Given the description of an element on the screen output the (x, y) to click on. 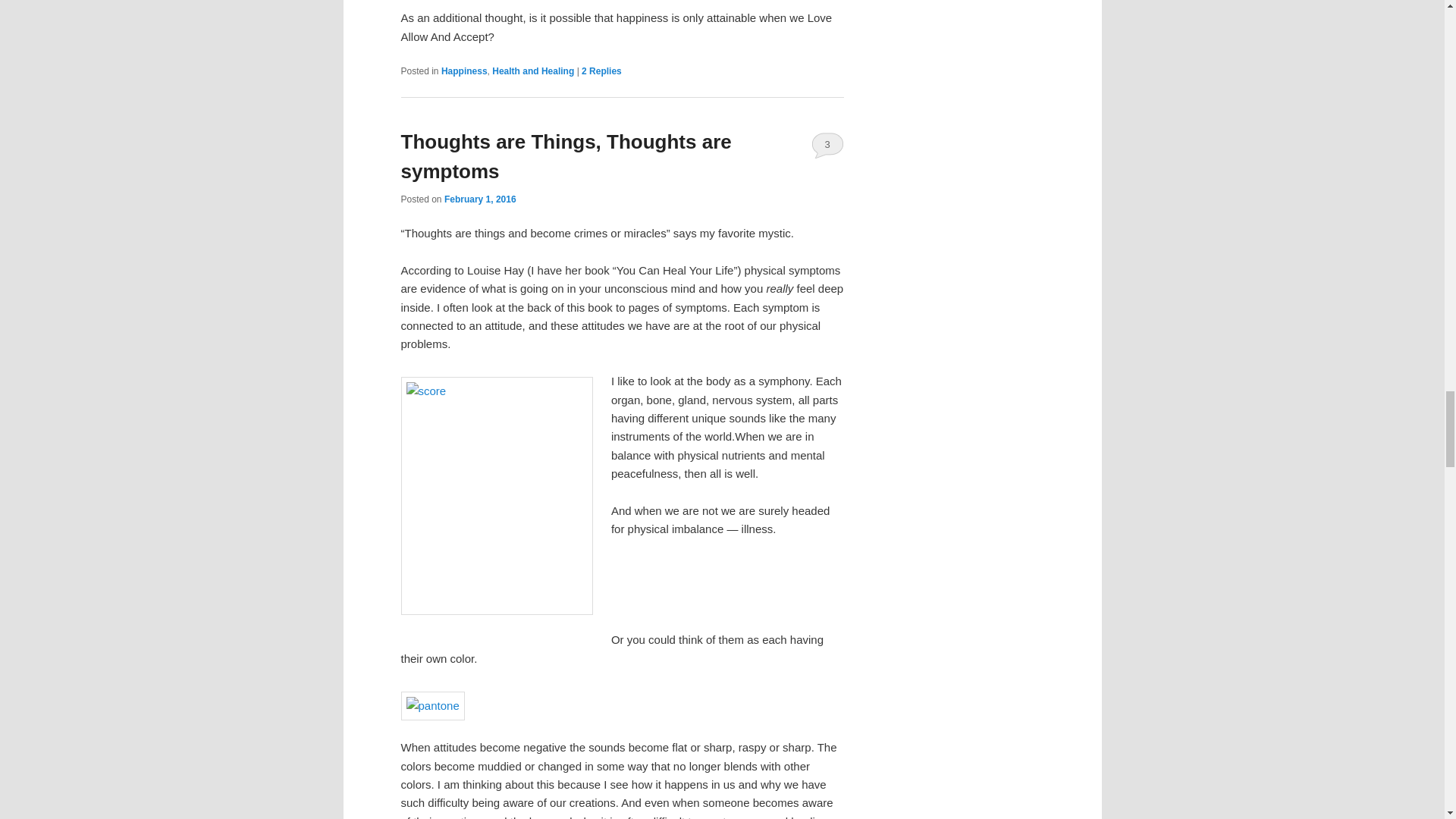
11:14 pm (480, 199)
Thoughts are Things, Thoughts are symptoms (565, 156)
2 Replies (600, 71)
Happiness (464, 71)
Health and Healing (532, 71)
